Given the description of an element on the screen output the (x, y) to click on. 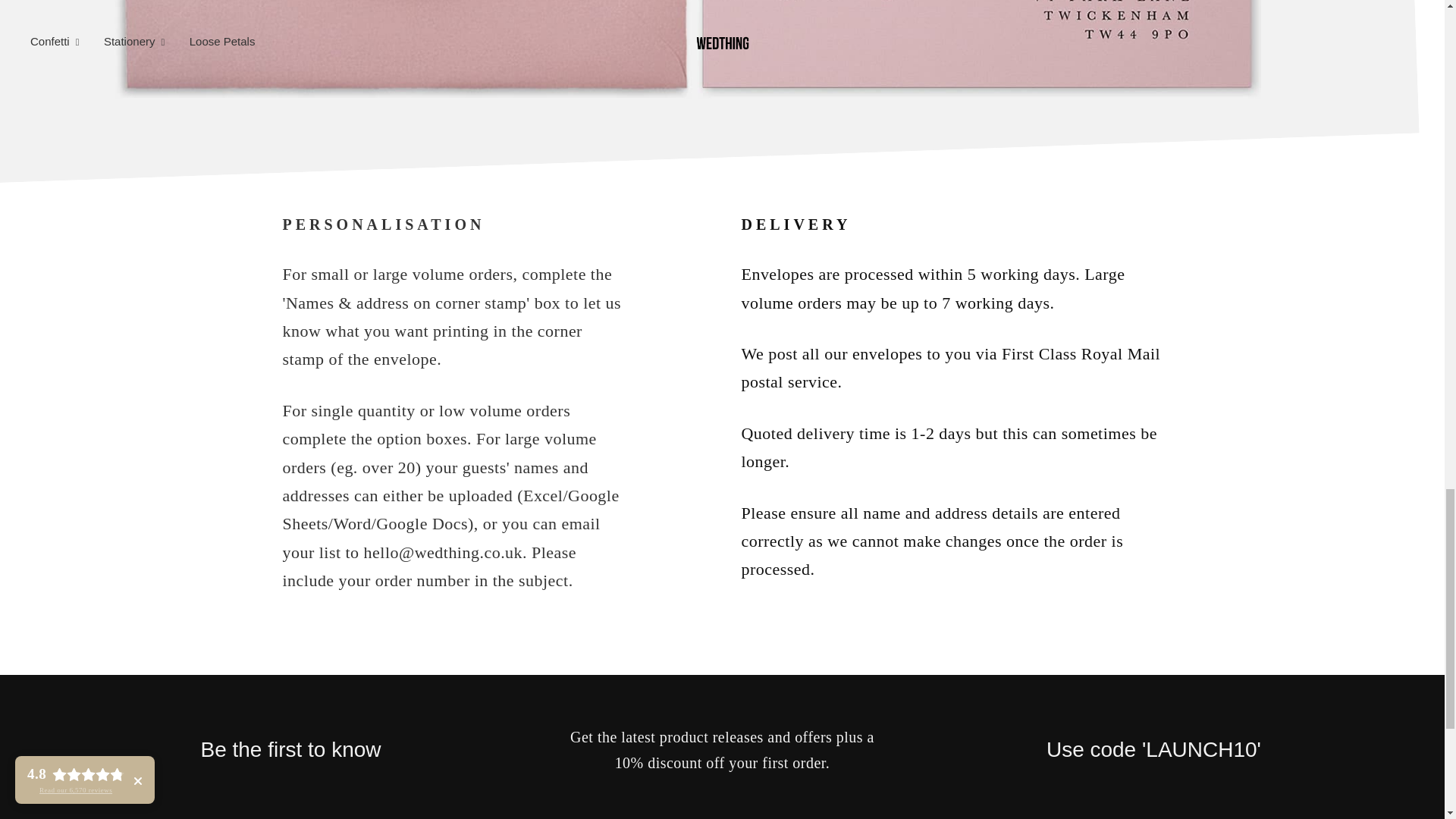
DELIVERY (951, 224)
Be the first to know (290, 749)
calligraphy-envelope-pink2-adjacent (687, 48)
PERSONALISATION (451, 224)
Use code 'LAUNCH10' (1153, 749)
